Given the description of an element on the screen output the (x, y) to click on. 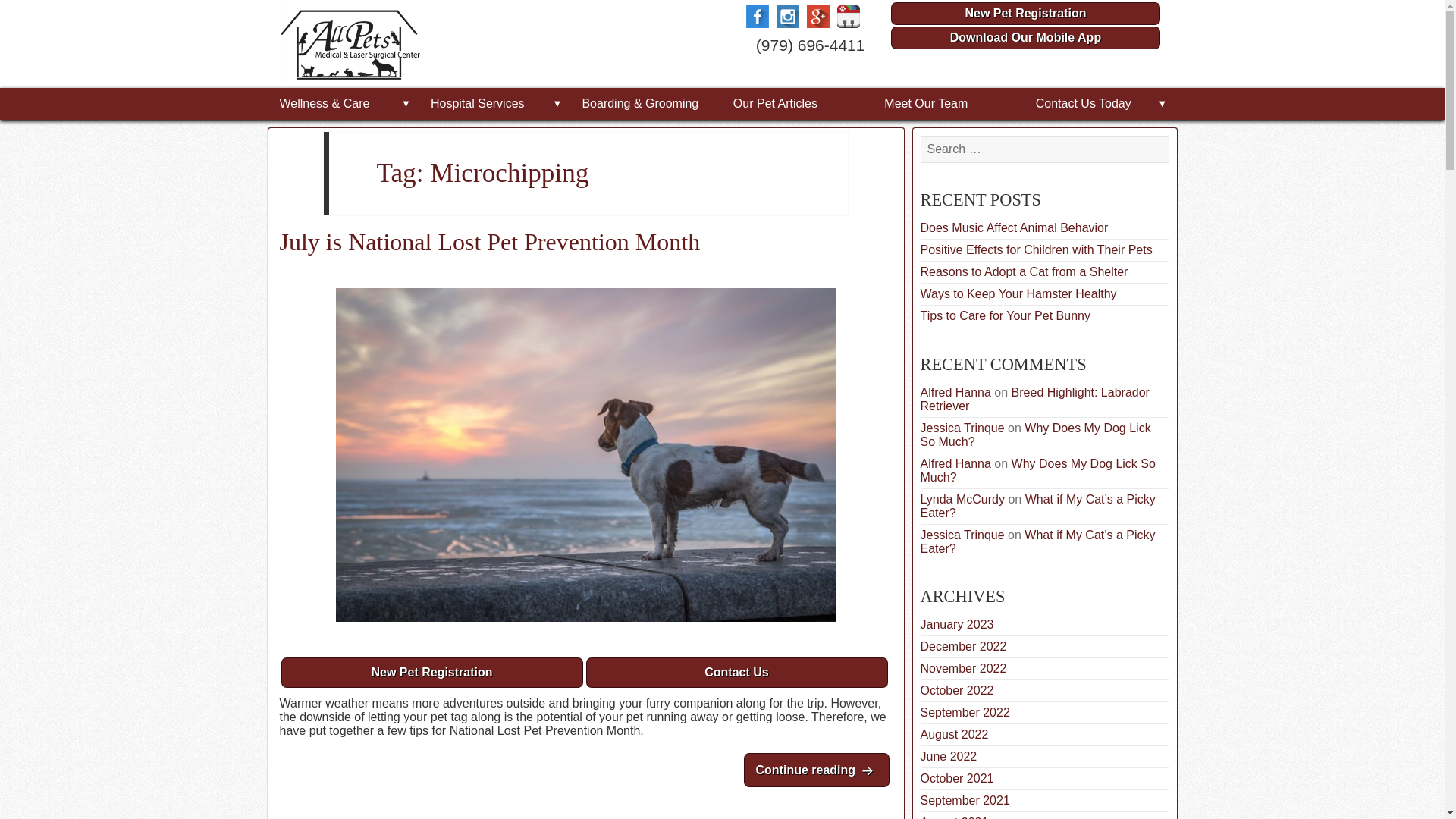
Contact Us Today (1098, 103)
Download Our Mobile App (816, 769)
New Pet Registration (1024, 37)
Contact Us (1024, 13)
Search (736, 672)
July is National Lost Pet Prevention Month (934, 174)
Meet Our Team (585, 241)
Hospital Services (947, 103)
Search (494, 103)
